Given the description of an element on the screen output the (x, y) to click on. 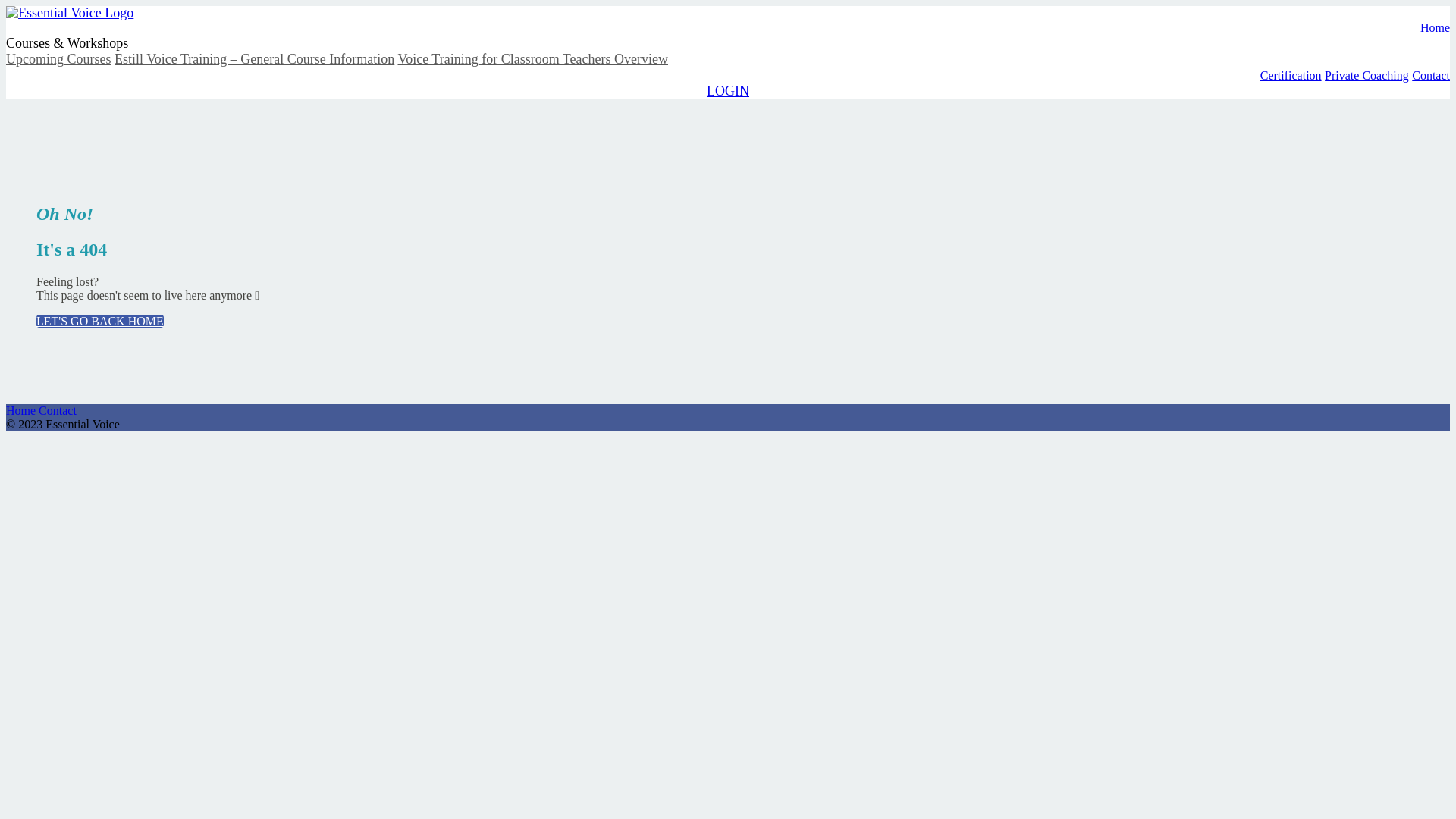
Home Element type: text (1434, 27)
Private Coaching Element type: text (1366, 75)
LOGIN Element type: text (727, 90)
Contact Element type: text (57, 410)
Certification Element type: text (1290, 75)
Voice Training for Classroom Teachers Overview Element type: text (532, 58)
Upcoming Courses Element type: text (58, 58)
Contact Element type: text (1430, 75)
Courses & Workshops Element type: text (67, 42)
Home Element type: text (20, 410)
LET'S GO BACK HOME Element type: text (99, 320)
